Given the description of an element on the screen output the (x, y) to click on. 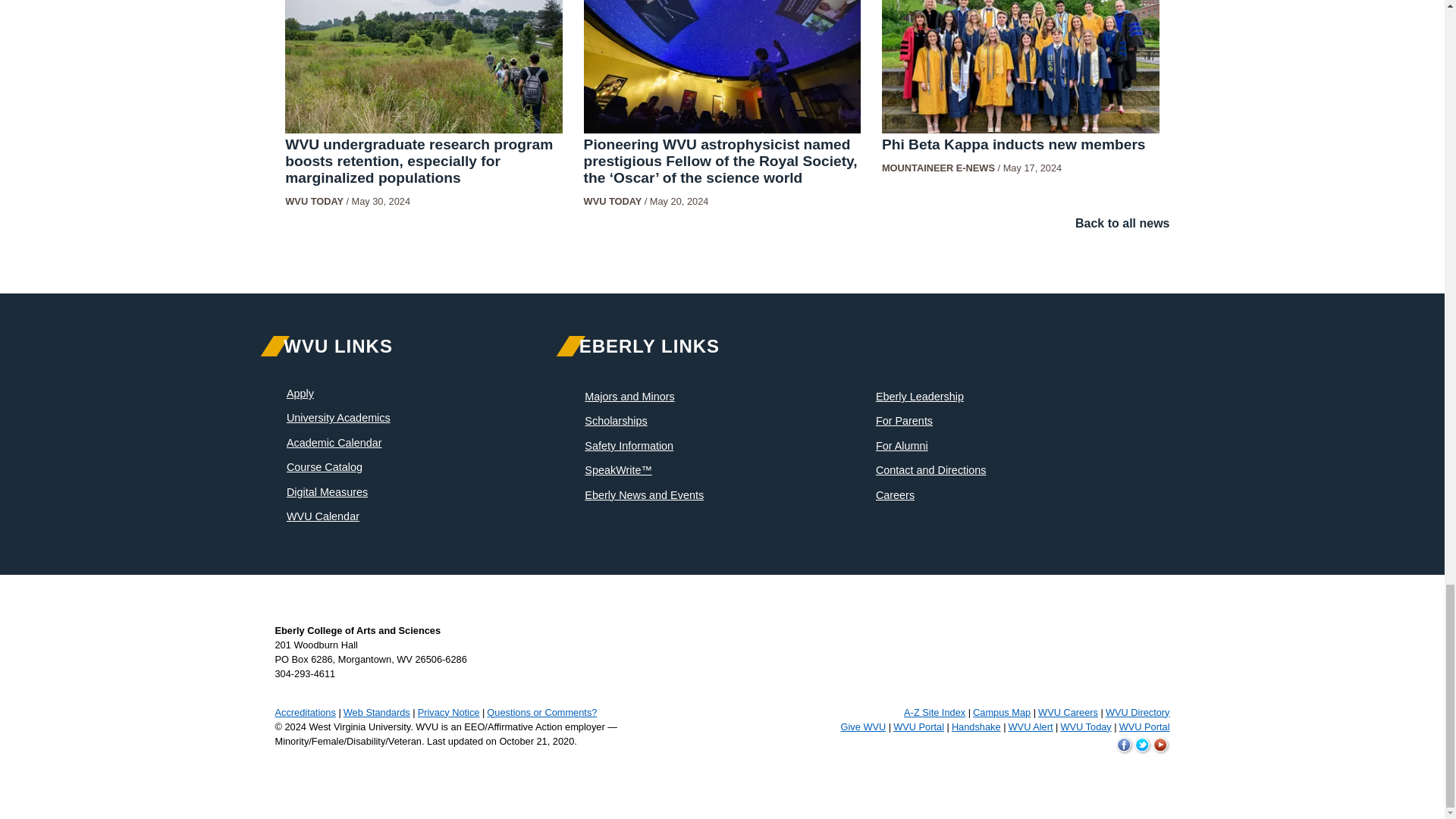
Course Catalog (324, 467)
Academic Calendar (333, 442)
Digital Measures (327, 491)
WVU Calendar (322, 516)
Apply (300, 393)
Phi Beta Kappa inducts new members (1013, 144)
Back to all news (1122, 223)
University Academics (338, 417)
Majors and Minors (629, 396)
